Given the description of an element on the screen output the (x, y) to click on. 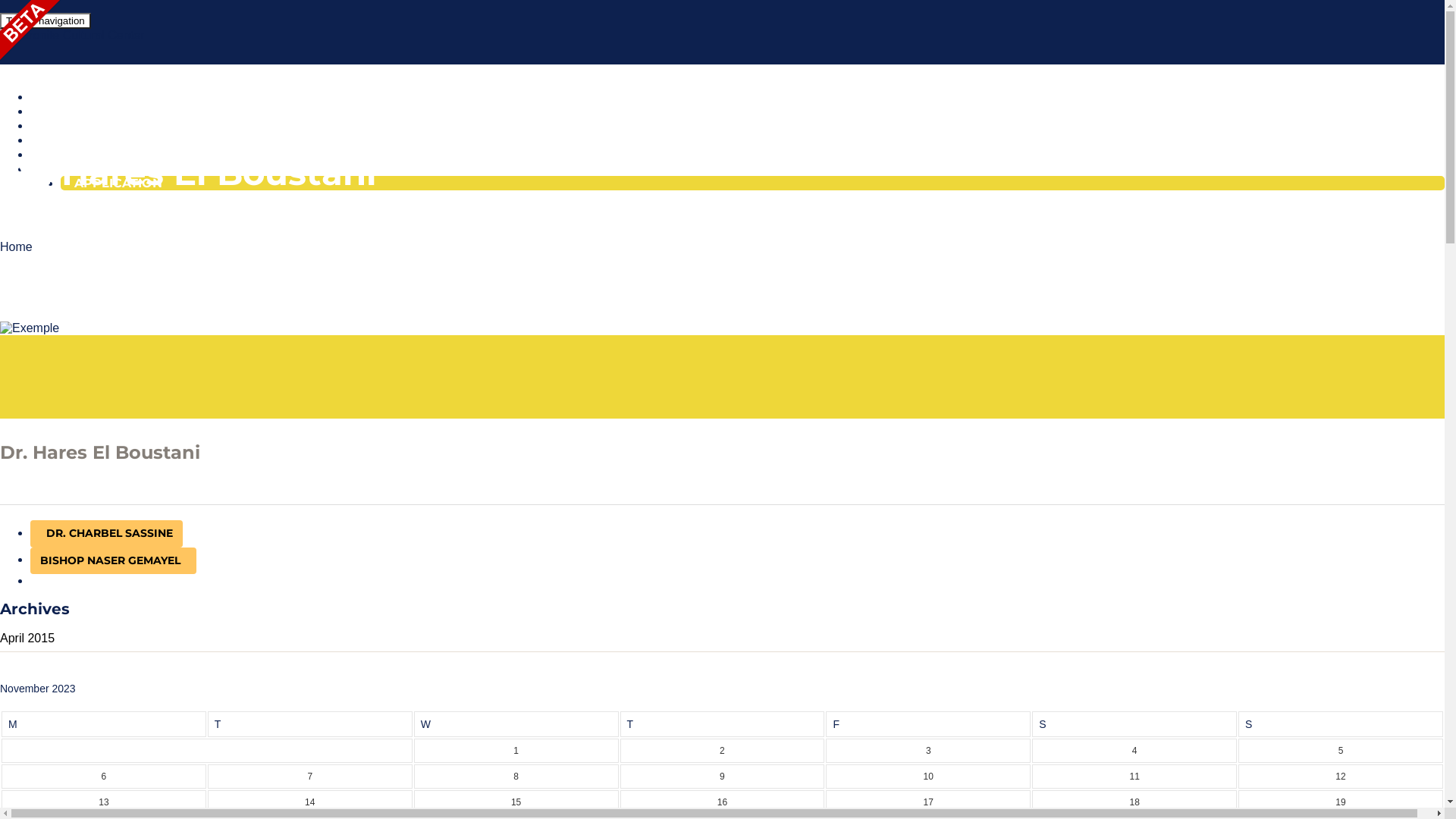
Home Element type: text (16, 246)
CONTACT Element type: text (73, 168)
PRODUCTION Element type: text (87, 125)
HOME Element type: text (63, 96)
MISSION Element type: text (70, 110)
MEMBERS Element type: text (76, 153)
GALLERY Element type: text (71, 139)
April 2015 Element type: text (27, 637)
DR. CHARBEL SASSINE Element type: text (106, 533)
Toggle navigation Element type: text (45, 20)
APPLICATION Element type: text (117, 182)
BISHOP NASER GEMAYEL Element type: text (113, 560)
